Given the description of an element on the screen output the (x, y) to click on. 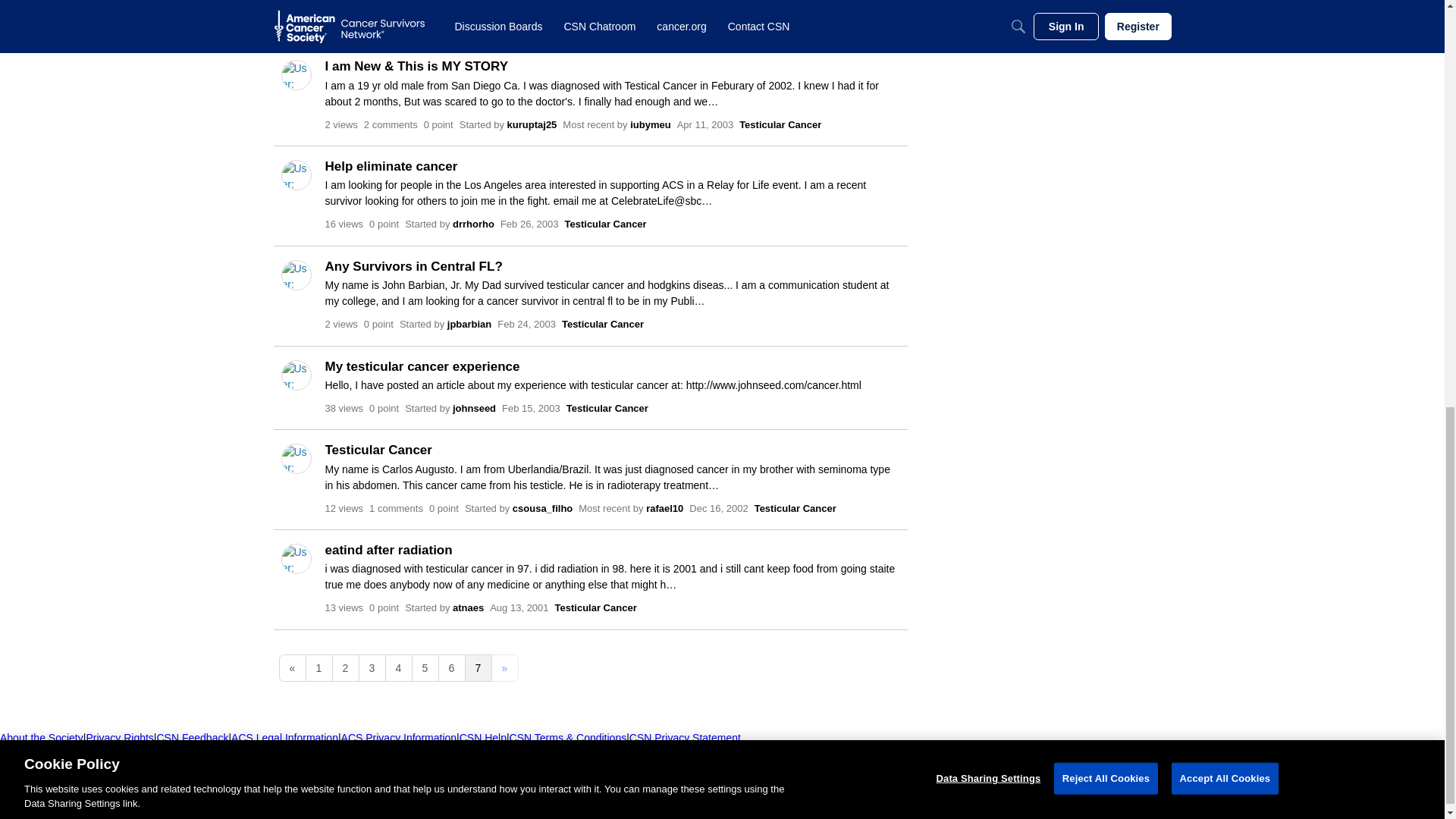
rogermoore (539, 24)
Monday, December 16, 2002 at 11:18 PM (718, 507)
Wednesday, February 26, 2003 at 1:24 AM (529, 224)
kuruptaj25 (531, 123)
iubymeu (661, 24)
Wednesday, April 16, 2003 at 4:13 PM (715, 24)
Friday, April 11, 2003 at 1:41 AM (705, 123)
Testicular Cancer (791, 24)
Monday, February 24, 2003 at 2:14 PM (526, 324)
iubymeu (649, 123)
